Given the description of an element on the screen output the (x, y) to click on. 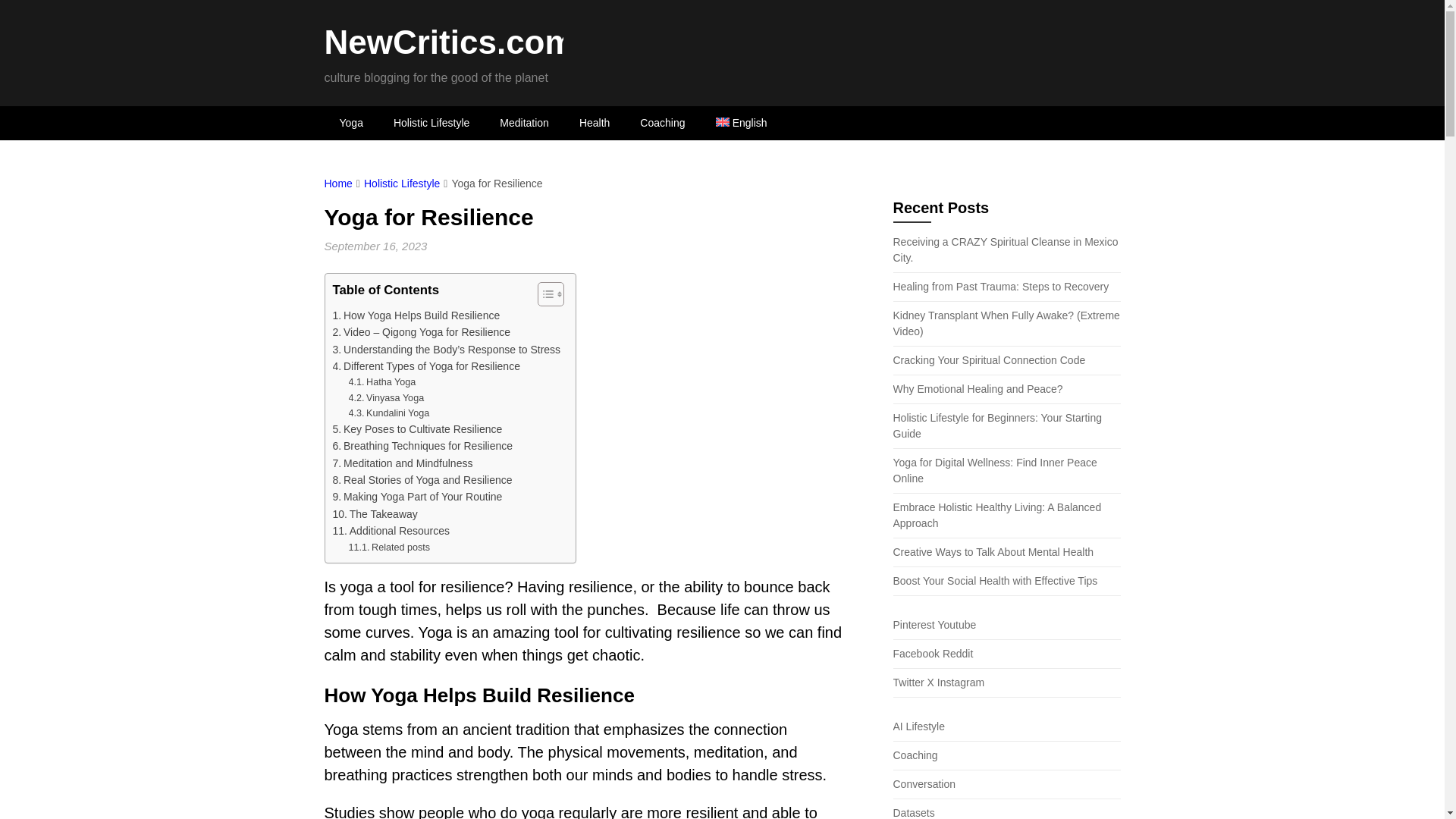
Real Stories of Yoga and Resilience (421, 479)
English (741, 123)
Related posts (389, 547)
Making Yoga Part of Your Routine (416, 496)
Real Stories of Yoga and Resilience (421, 479)
Meditation and Mindfulness (401, 463)
Meditation and Mindfulness (401, 463)
Coaching (662, 123)
Key Poses to Cultivate Resilience (416, 428)
Hatha Yoga (382, 381)
Home (338, 183)
Making Yoga Part of Your Routine (416, 496)
Holistic Lifestyle (401, 183)
How Yoga Helps Build Resilience (415, 315)
Related posts (389, 547)
